Given the description of an element on the screen output the (x, y) to click on. 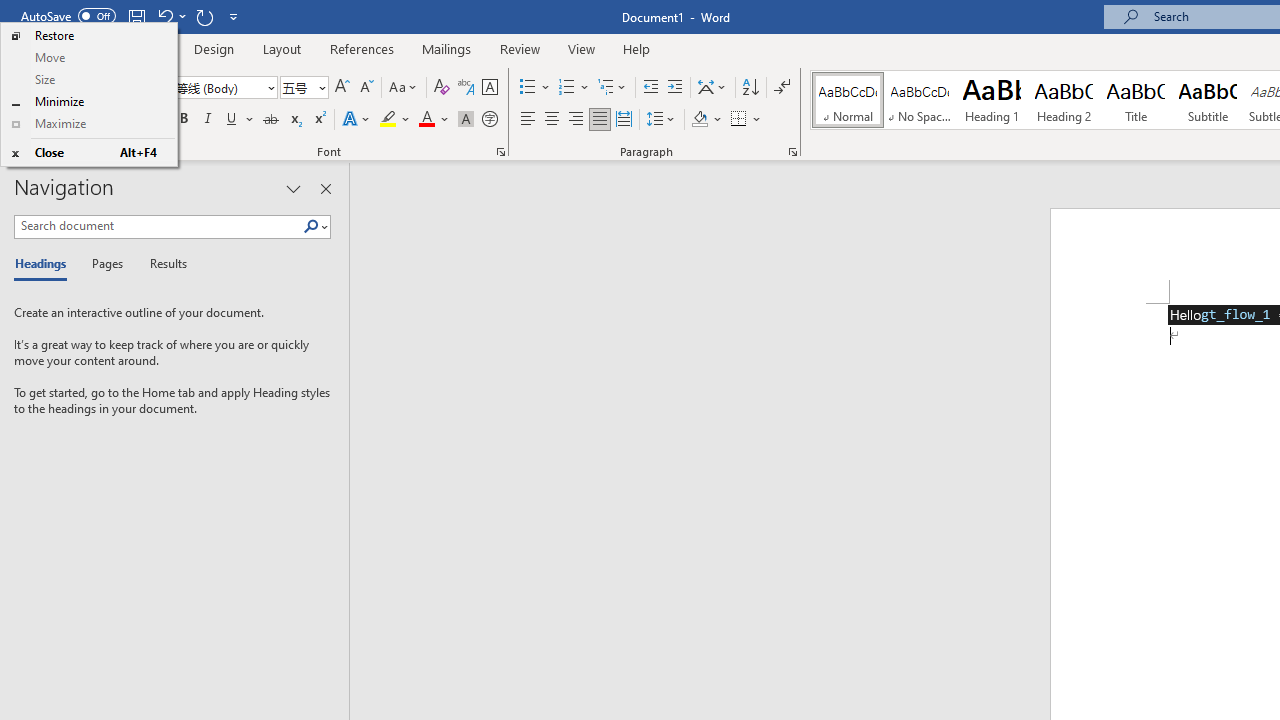
Heading 1 (991, 100)
Restore (88, 35)
